Given the description of an element on the screen output the (x, y) to click on. 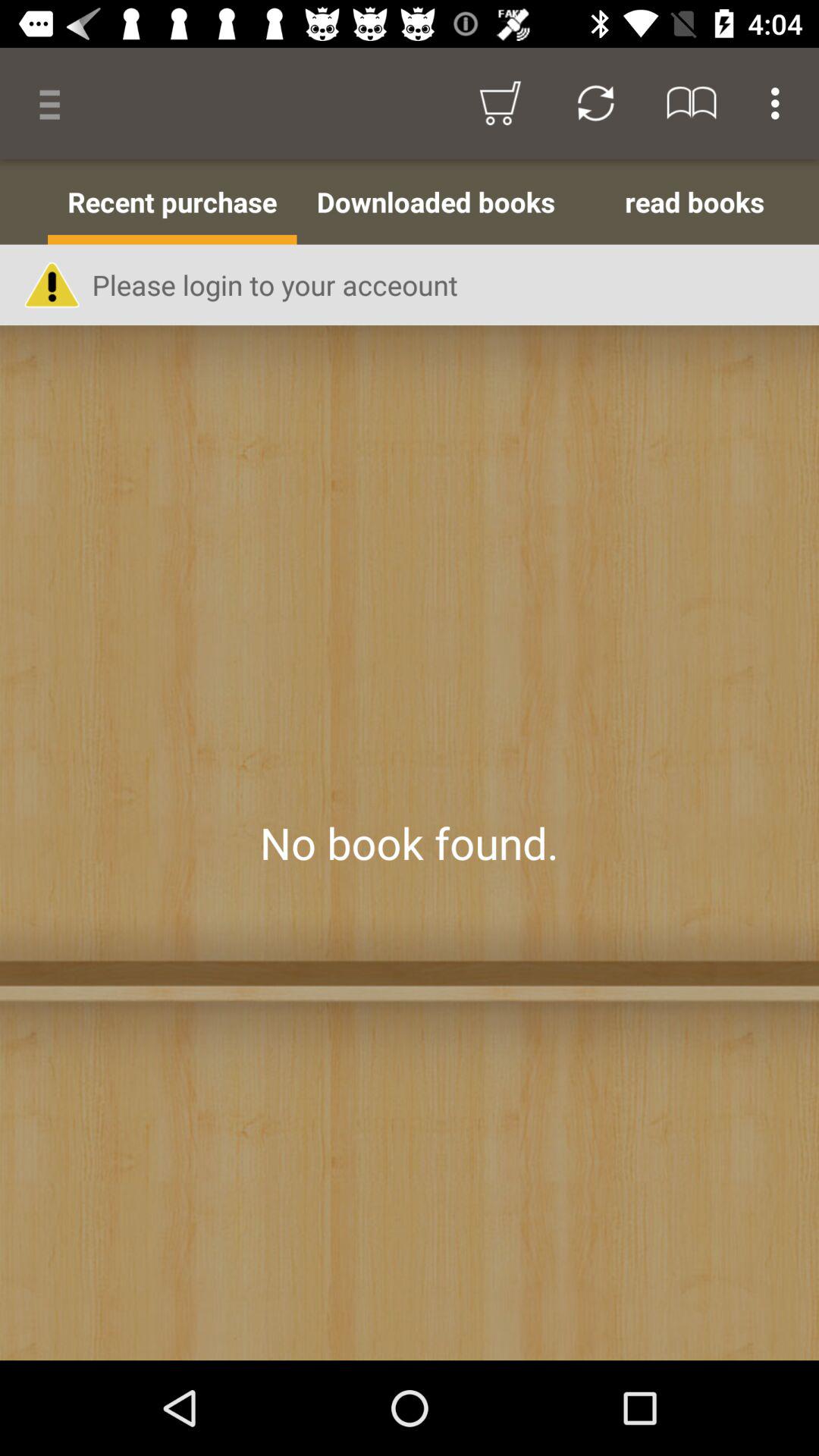
select book (409, 842)
